Given the description of an element on the screen output the (x, y) to click on. 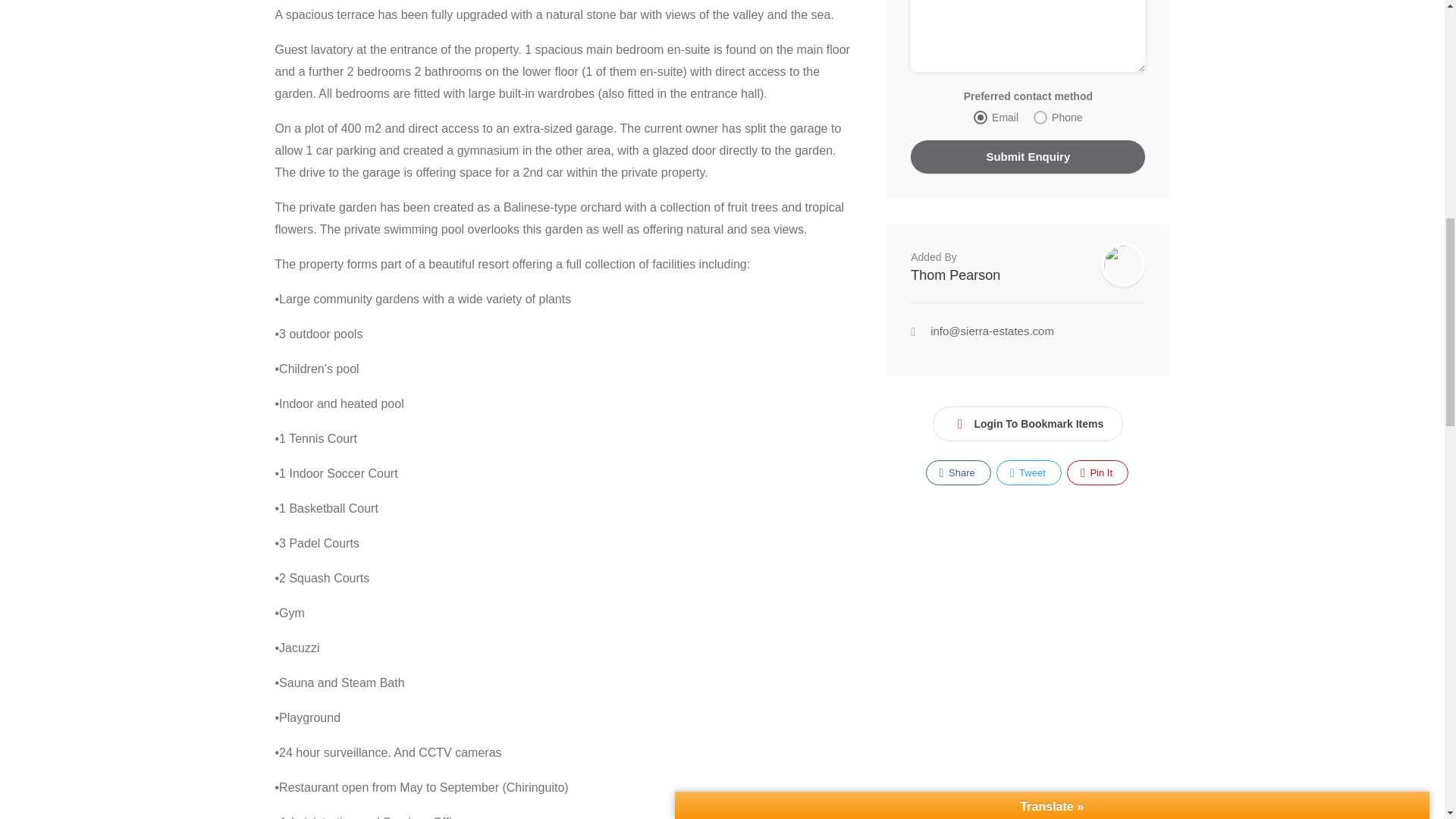
Submit Enquiry (1027, 156)
Twitter (1028, 472)
